Given the description of an element on the screen output the (x, y) to click on. 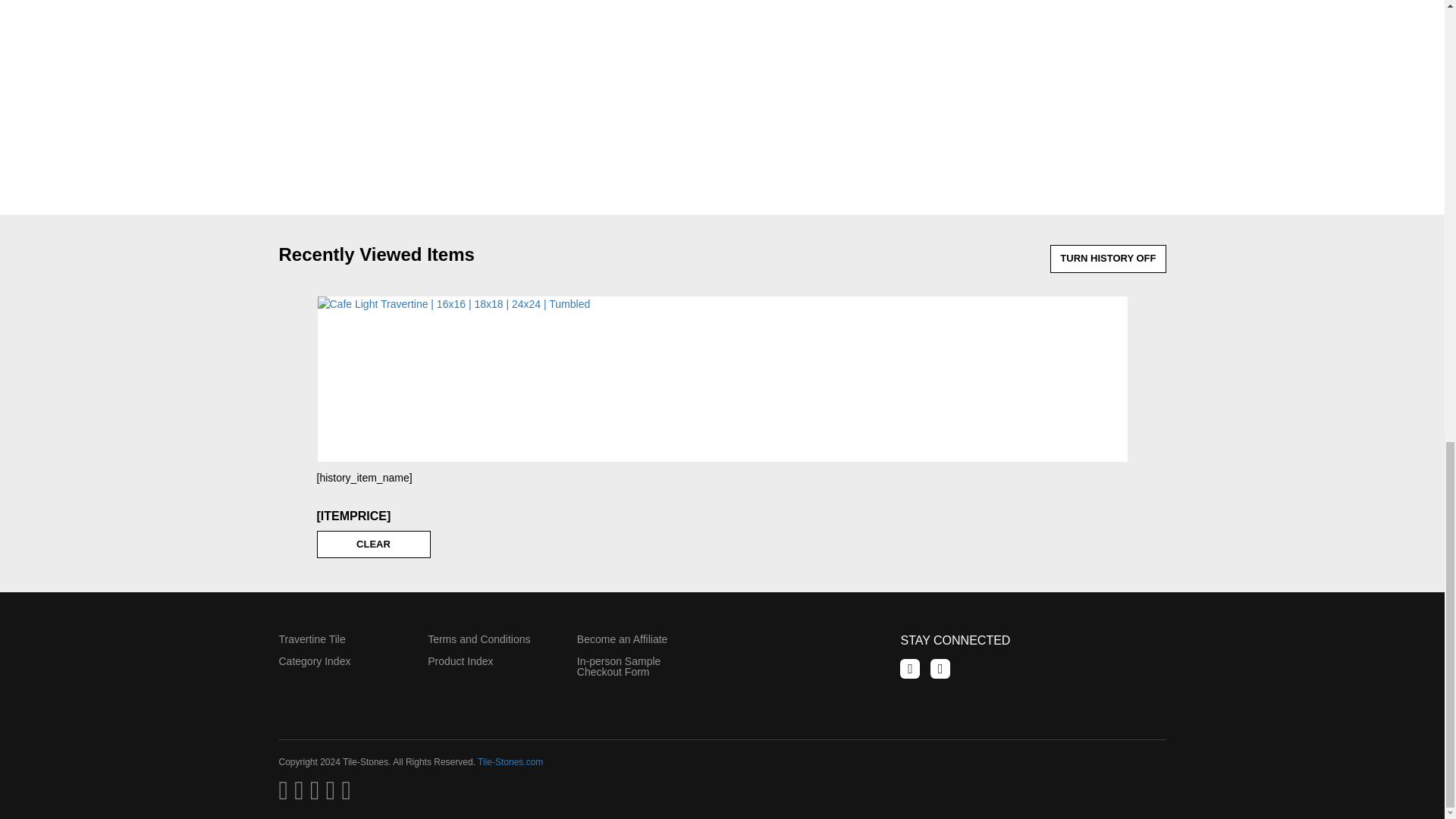
Follow Us on Pinterest (940, 668)
Like Us on Facebook (909, 668)
